Given the description of an element on the screen output the (x, y) to click on. 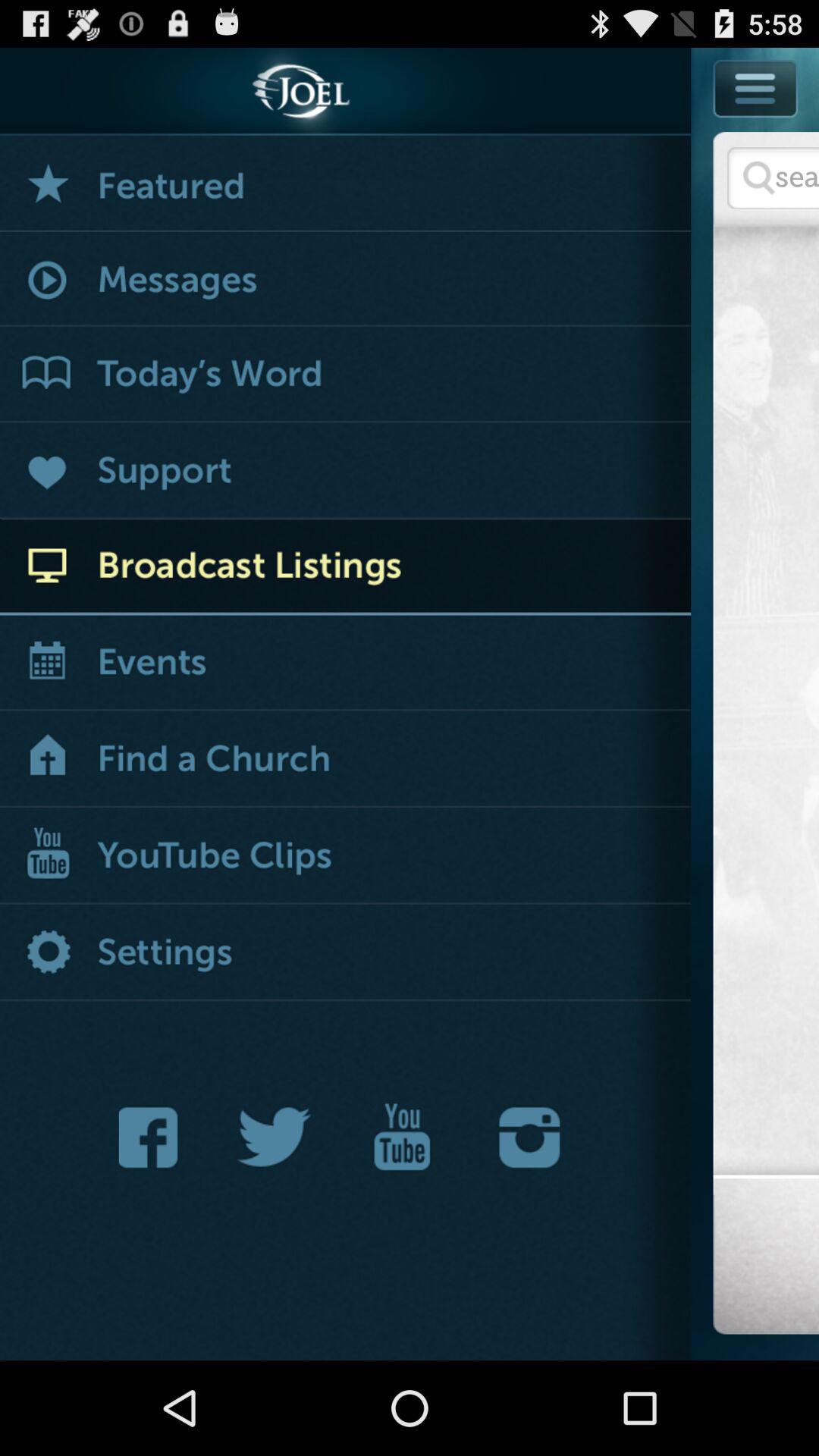
menu option (755, 122)
